Given the description of an element on the screen output the (x, y) to click on. 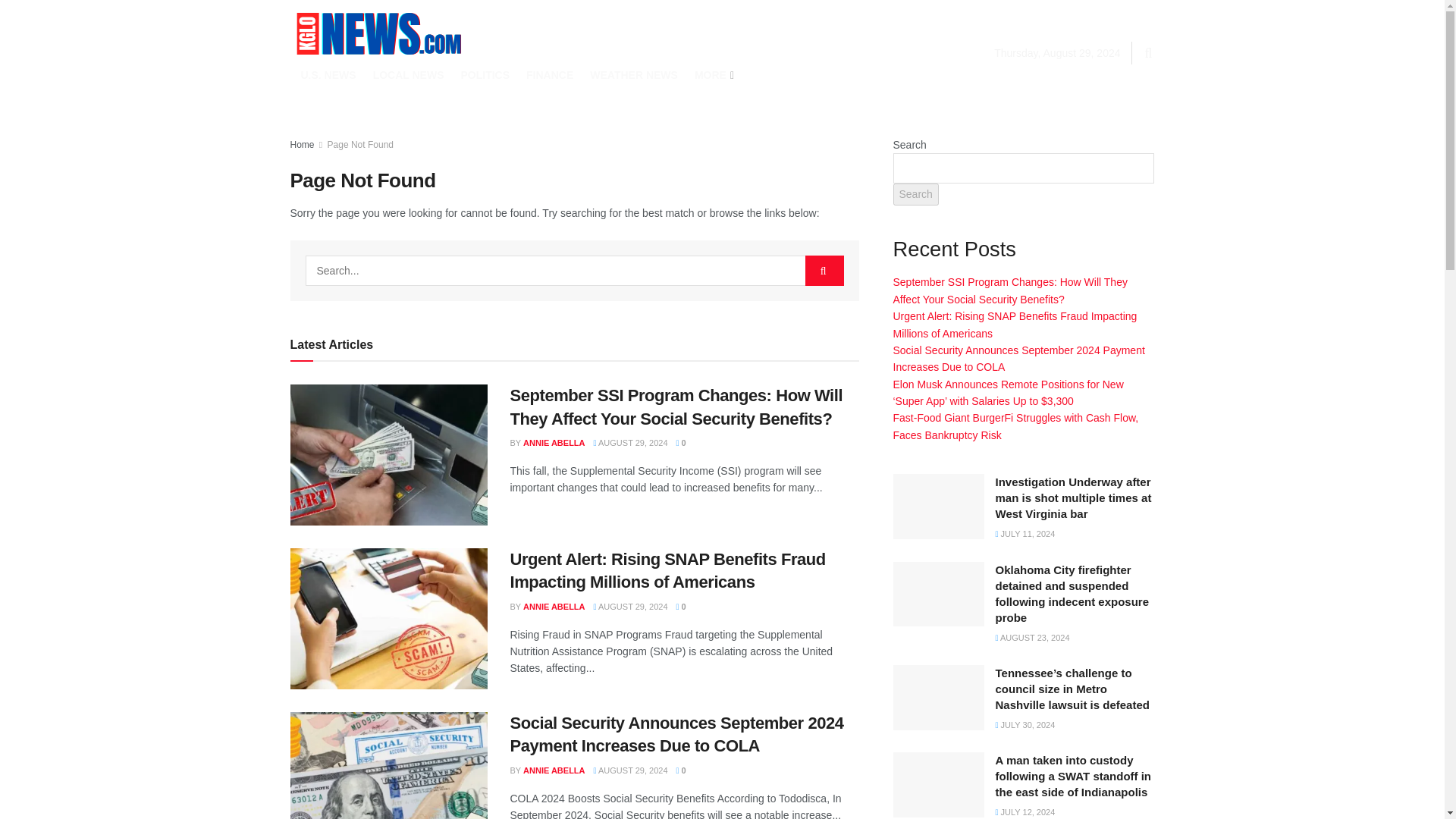
ANNIE ABELLA (553, 605)
U.S. NEWS (327, 74)
Page Not Found (360, 144)
AUGUST 29, 2024 (631, 605)
FINANCE (549, 74)
Home (301, 144)
MORE (713, 74)
POLITICS (484, 74)
0 (681, 605)
